Given the description of an element on the screen output the (x, y) to click on. 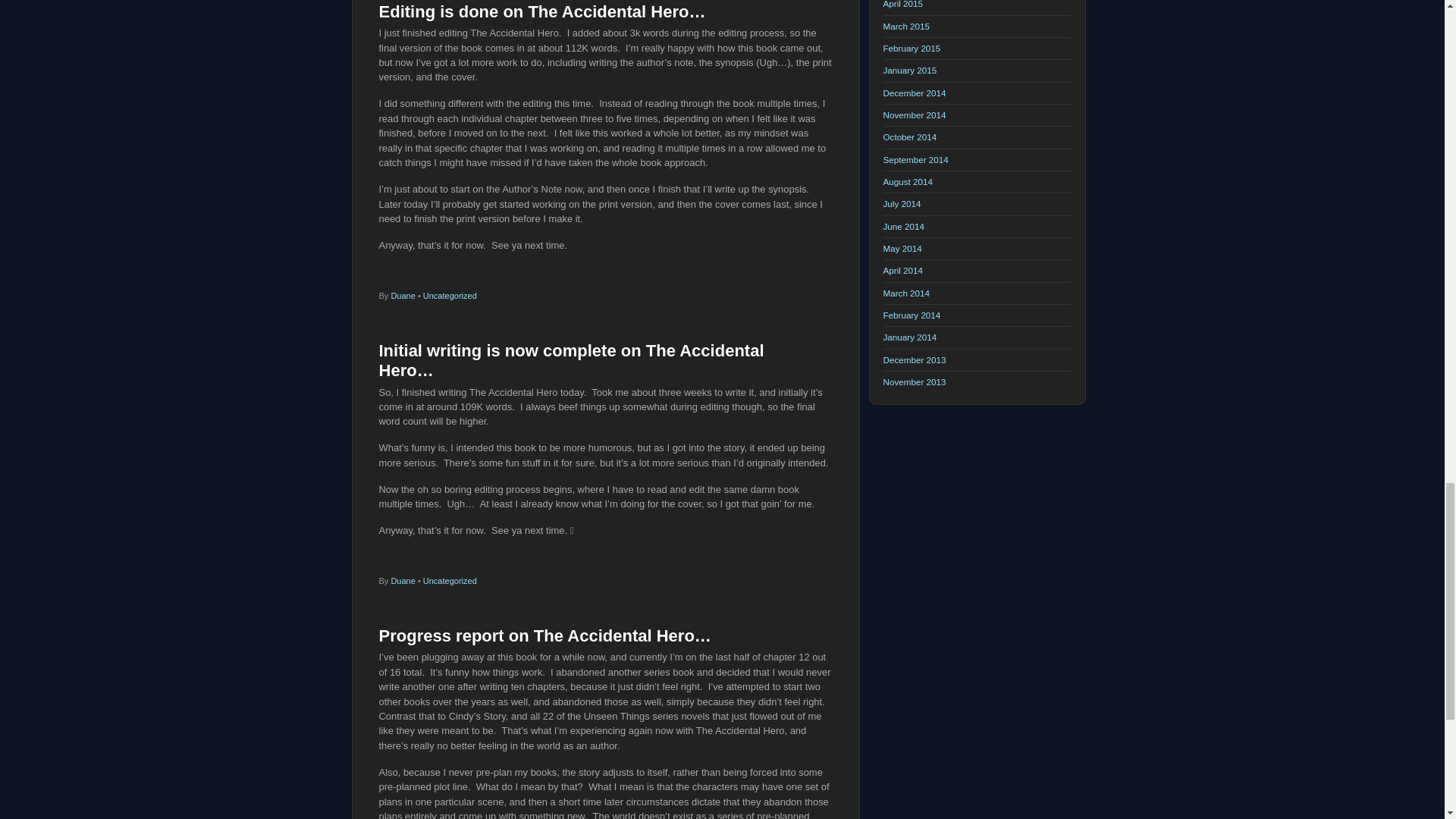
Uncategorized (450, 295)
Duane (402, 295)
Duane (402, 580)
Uncategorized (450, 580)
